Given the description of an element on the screen output the (x, y) to click on. 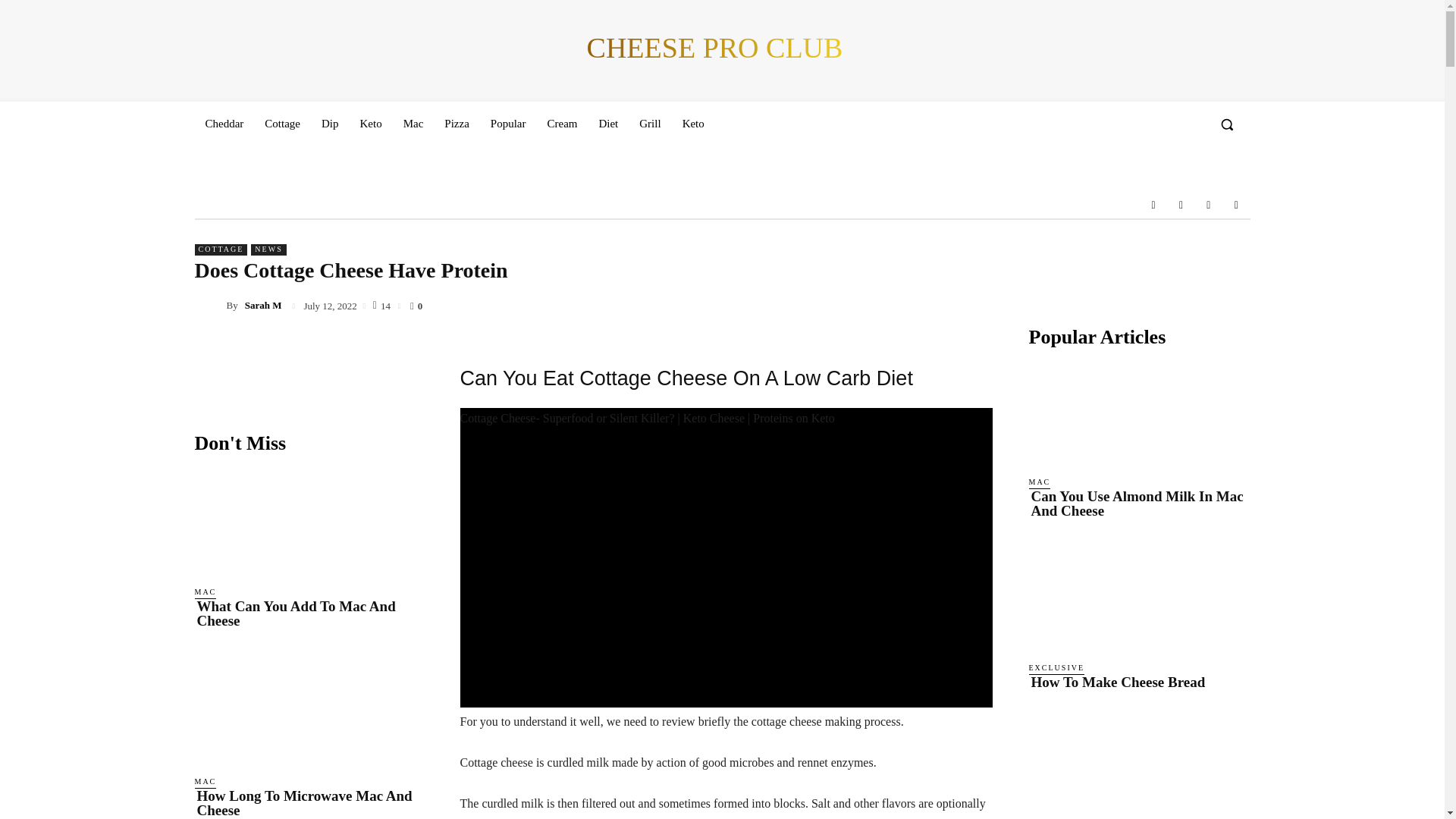
Popular (508, 123)
Instagram (1180, 204)
VKontakte (1209, 204)
Pizza (456, 123)
Diet (608, 123)
Facebook (1153, 204)
Cream (561, 123)
Youtube (1236, 204)
CHEESE PRO CLUB (713, 48)
Keto (692, 123)
Keto (370, 123)
Cottage (282, 123)
Mac (413, 123)
Grill (649, 123)
Cheddar (223, 123)
